Given the description of an element on the screen output the (x, y) to click on. 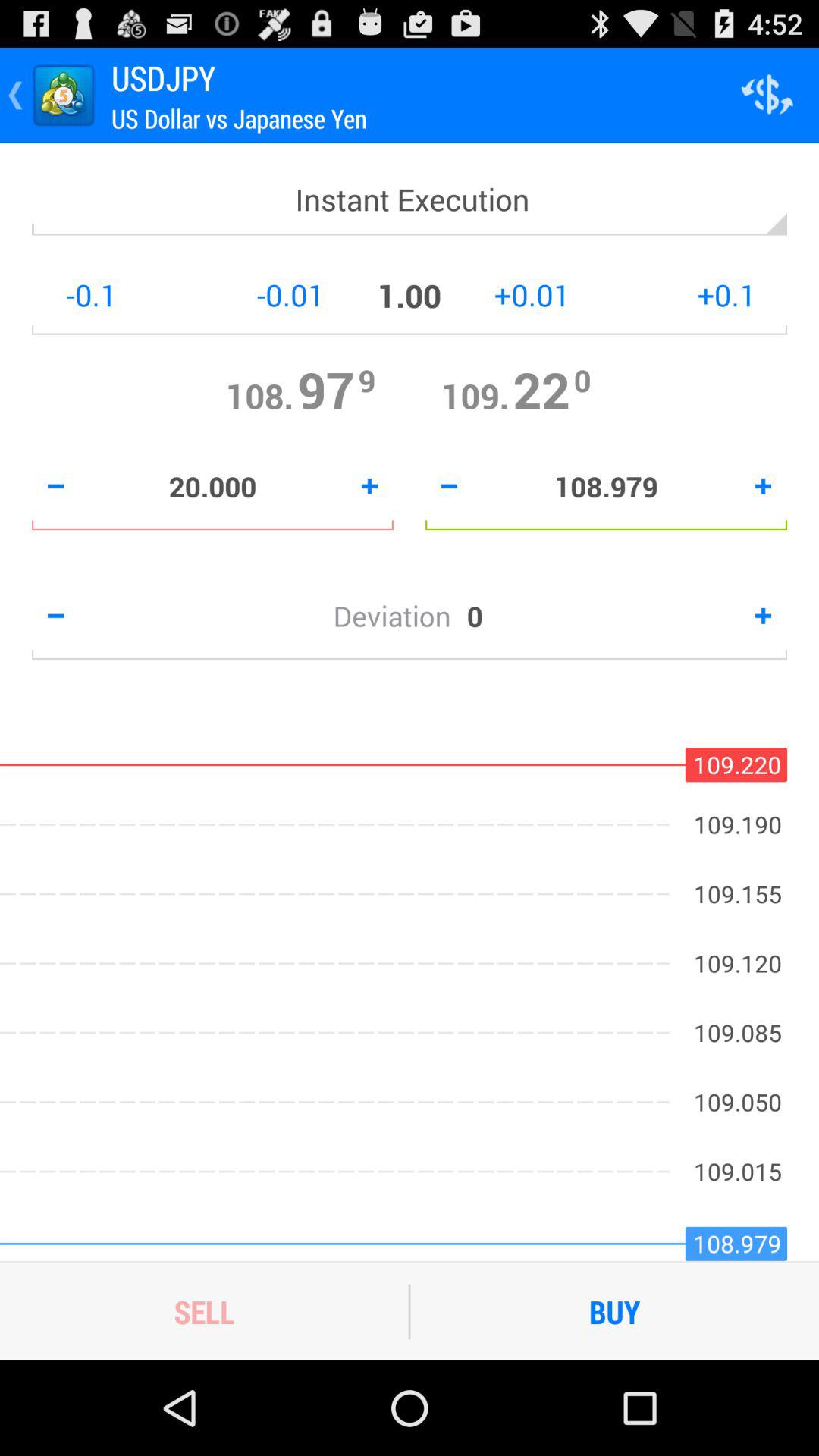
turn off 20.000 icon (212, 486)
